Given the description of an element on the screen output the (x, y) to click on. 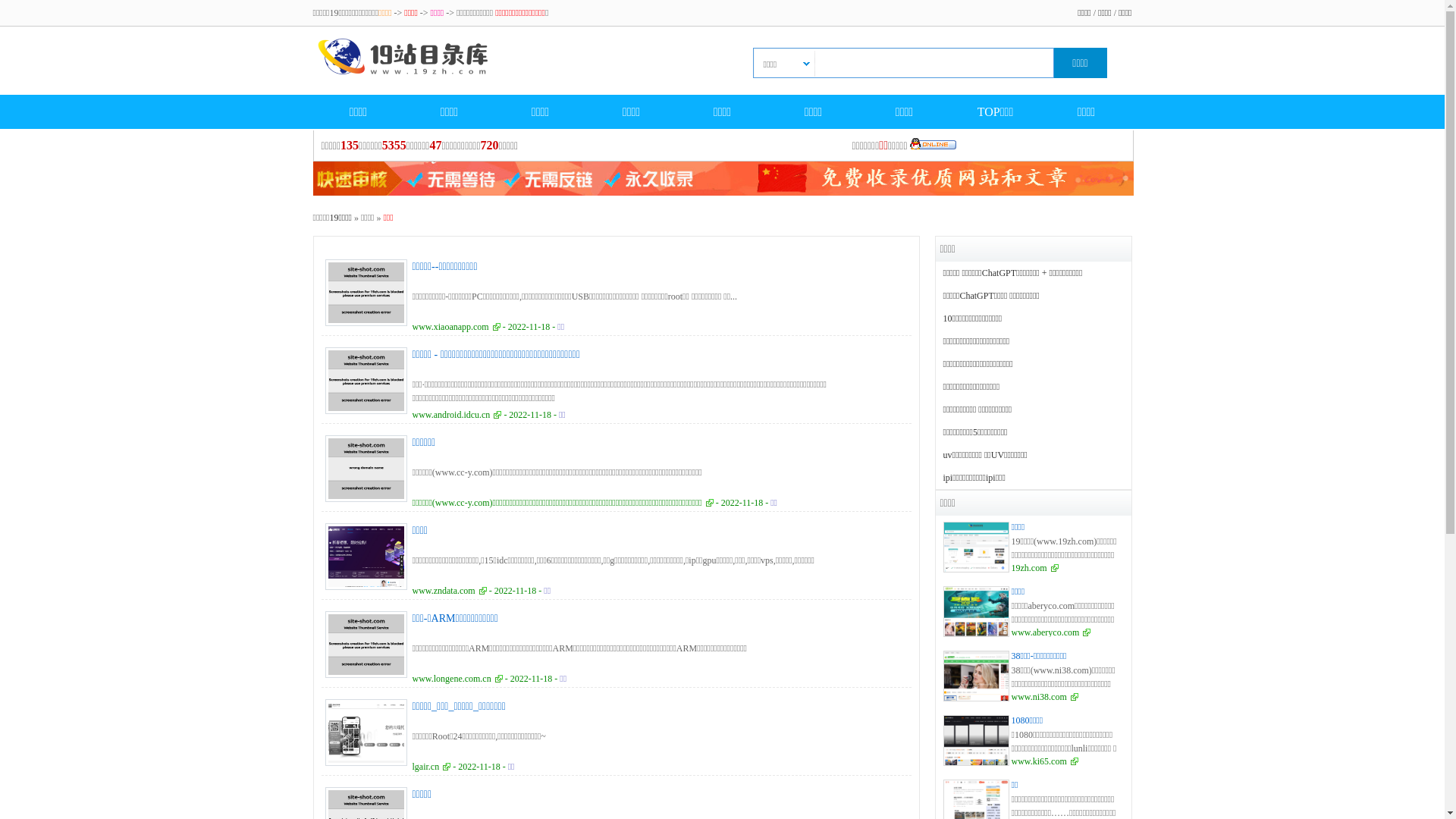
www.xiaoanapp.com Element type: text (456, 326)
19zh.com Element type: text (1034, 567)
lgair.cn Element type: text (431, 766)
www.aberyco.com Element type: text (1051, 632)
www.android.idcu.cn Element type: text (457, 414)
www.zndata.com Element type: text (449, 590)
www.longene.com.cn Element type: text (457, 678)
www.ki65.com Element type: text (1044, 761)
www.ni38.com Element type: text (1044, 696)
